Given the description of an element on the screen output the (x, y) to click on. 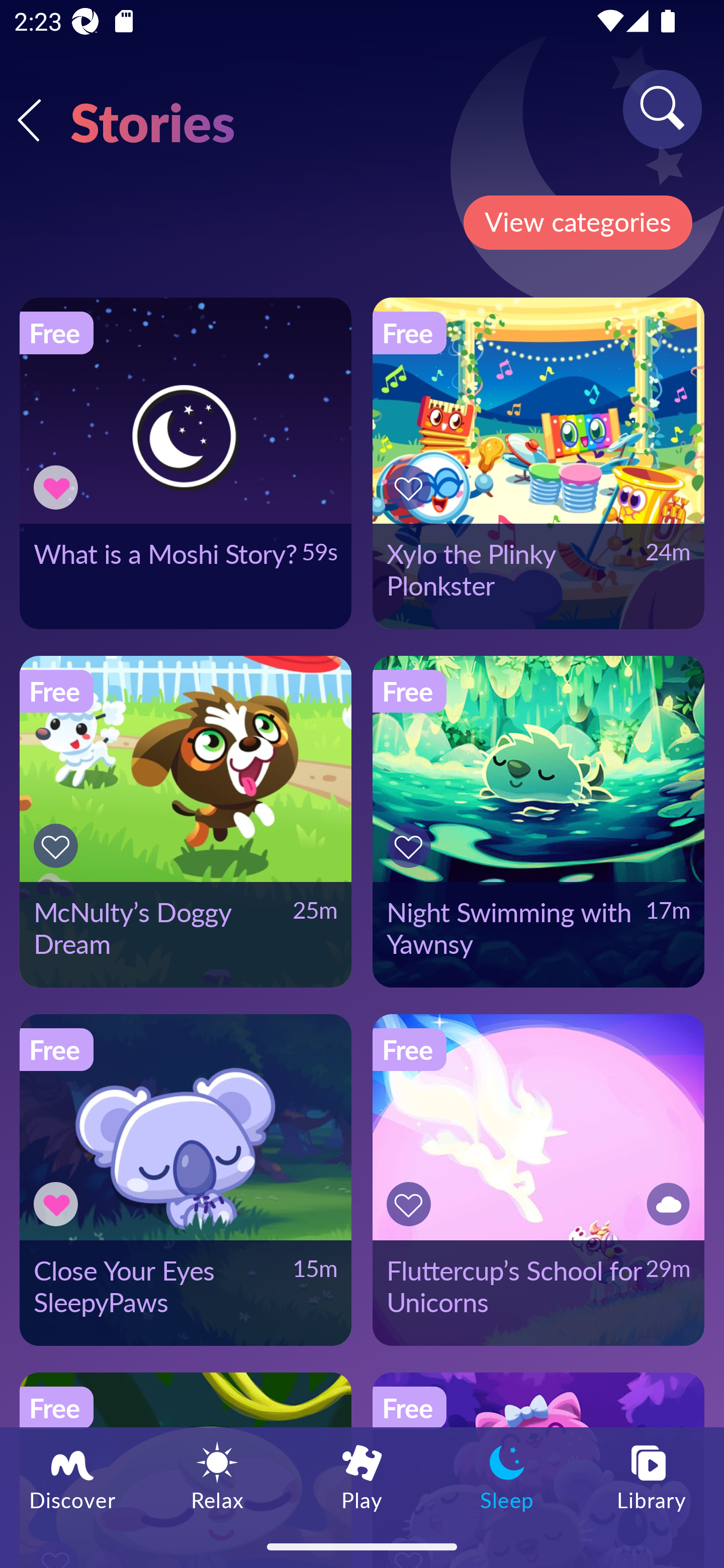
View categories (577, 222)
Button (58, 487)
Button (411, 487)
Button (58, 844)
Button (411, 844)
Button (58, 1203)
Button (411, 1203)
Button (665, 1203)
Discover (72, 1475)
Relax (216, 1475)
Play (361, 1475)
Library (651, 1475)
